Given the description of an element on the screen output the (x, y) to click on. 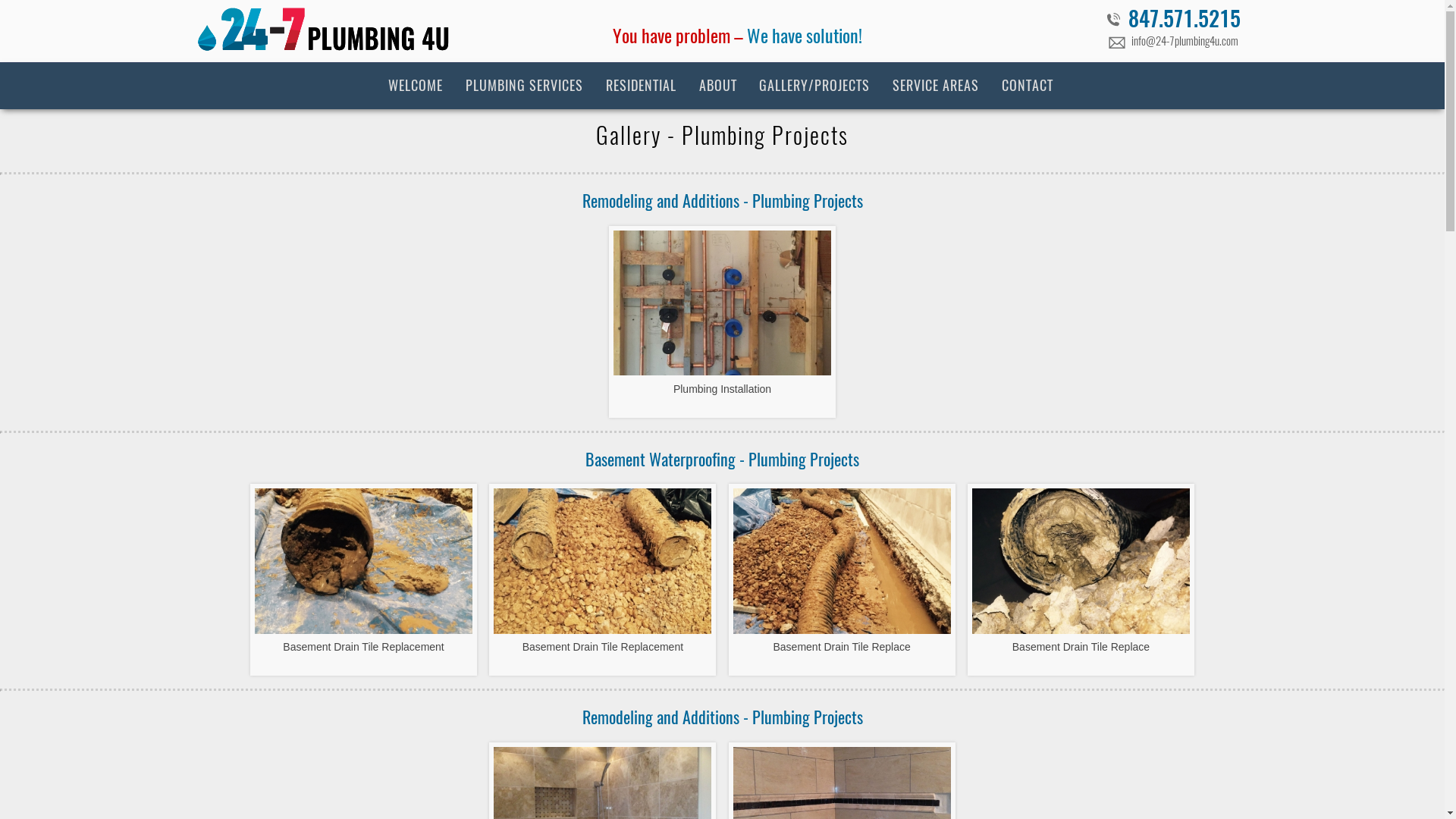
PLUMBING SERVICES Element type: text (524, 85)
ABOUT Element type: text (717, 85)
GALLERY/PROJECTS Element type: text (814, 85)
RESIDENTIAL Element type: text (640, 85)
Basement Drain Tile Replace Element type: text (1080, 579)
WELCOME Element type: text (415, 85)
847.571.5215 Element type: text (1172, 21)
SERVICE AREAS Element type: text (935, 85)
Plumbing Installation Element type: text (721, 321)
CONTACT Element type: text (1027, 85)
Basement Drain Tile Replacement Element type: text (363, 579)
info@24-7plumbing4u.com Element type: text (1173, 44)
Basement Drain Tile Replacement Element type: text (602, 579)
Basement Drain Tile Replace Element type: text (841, 579)
